Given the description of an element on the screen output the (x, y) to click on. 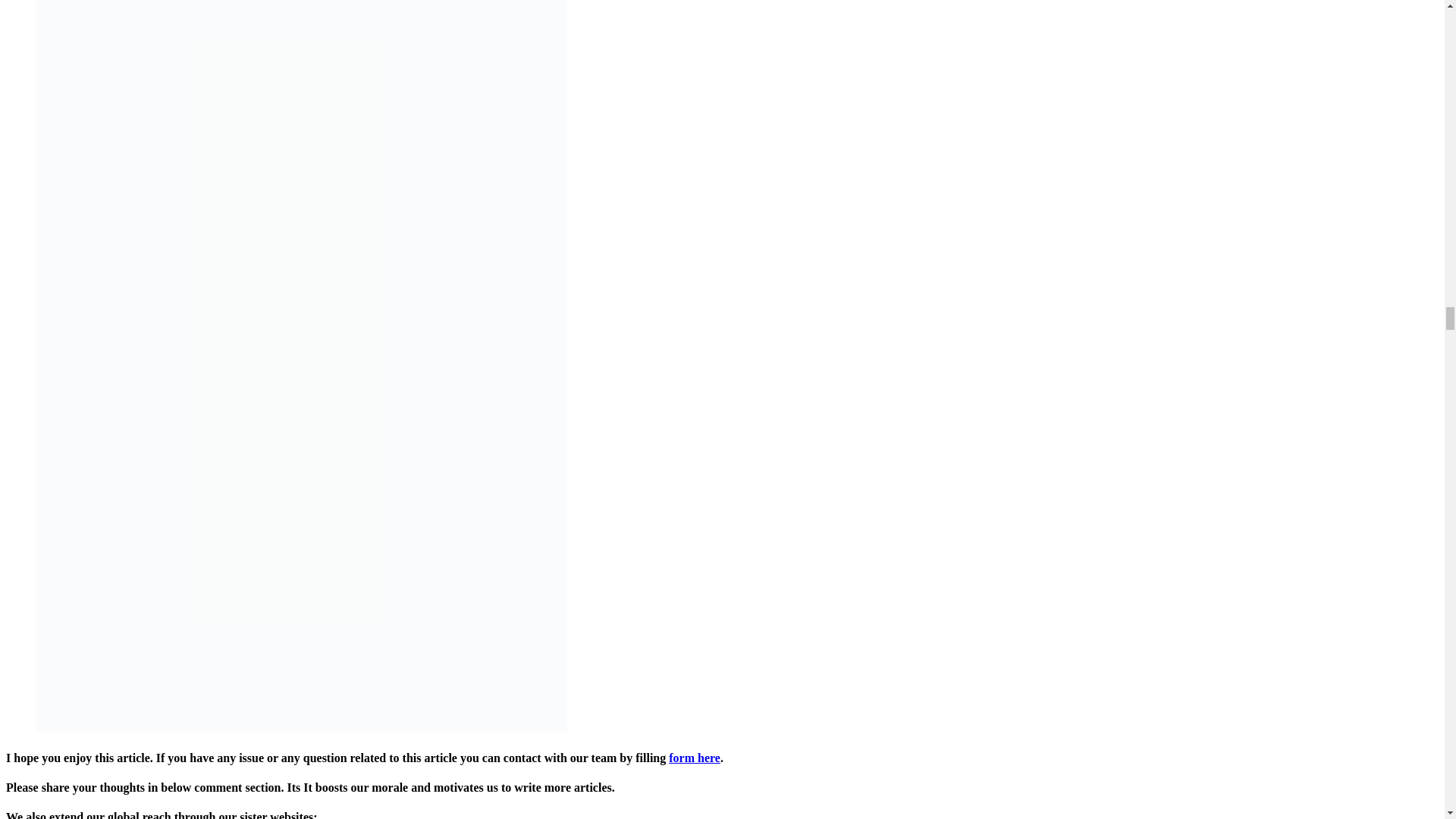
form here (694, 757)
